Given the description of an element on the screen output the (x, y) to click on. 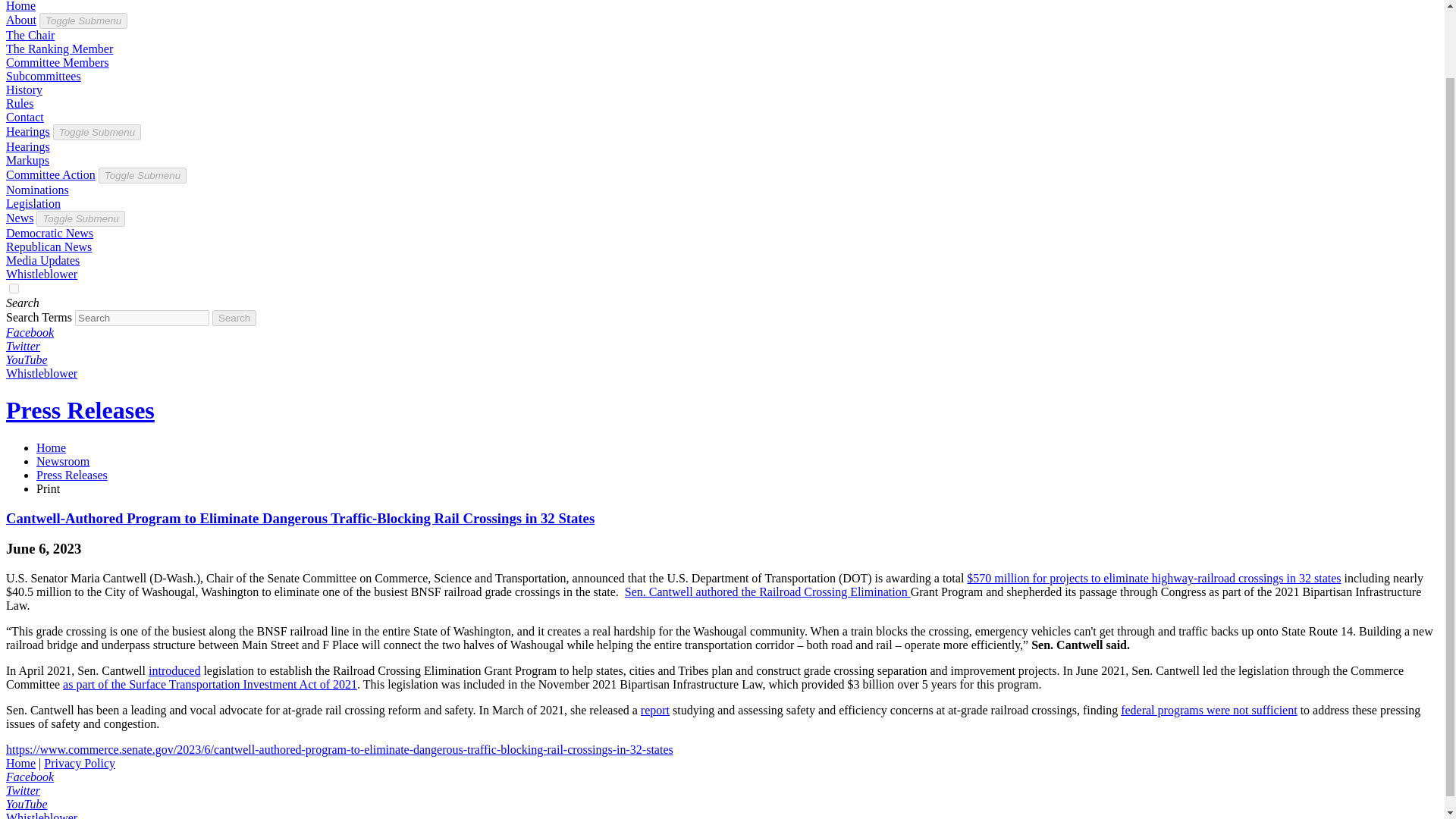
Toggle Submenu (142, 174)
Toggle Submenu (82, 20)
History (23, 89)
Republican News (48, 246)
Press Releases (79, 410)
Committee Action (50, 174)
About (20, 19)
Twitter (22, 345)
Whistleblower (41, 273)
Facebook (29, 332)
